Given the description of an element on the screen output the (x, y) to click on. 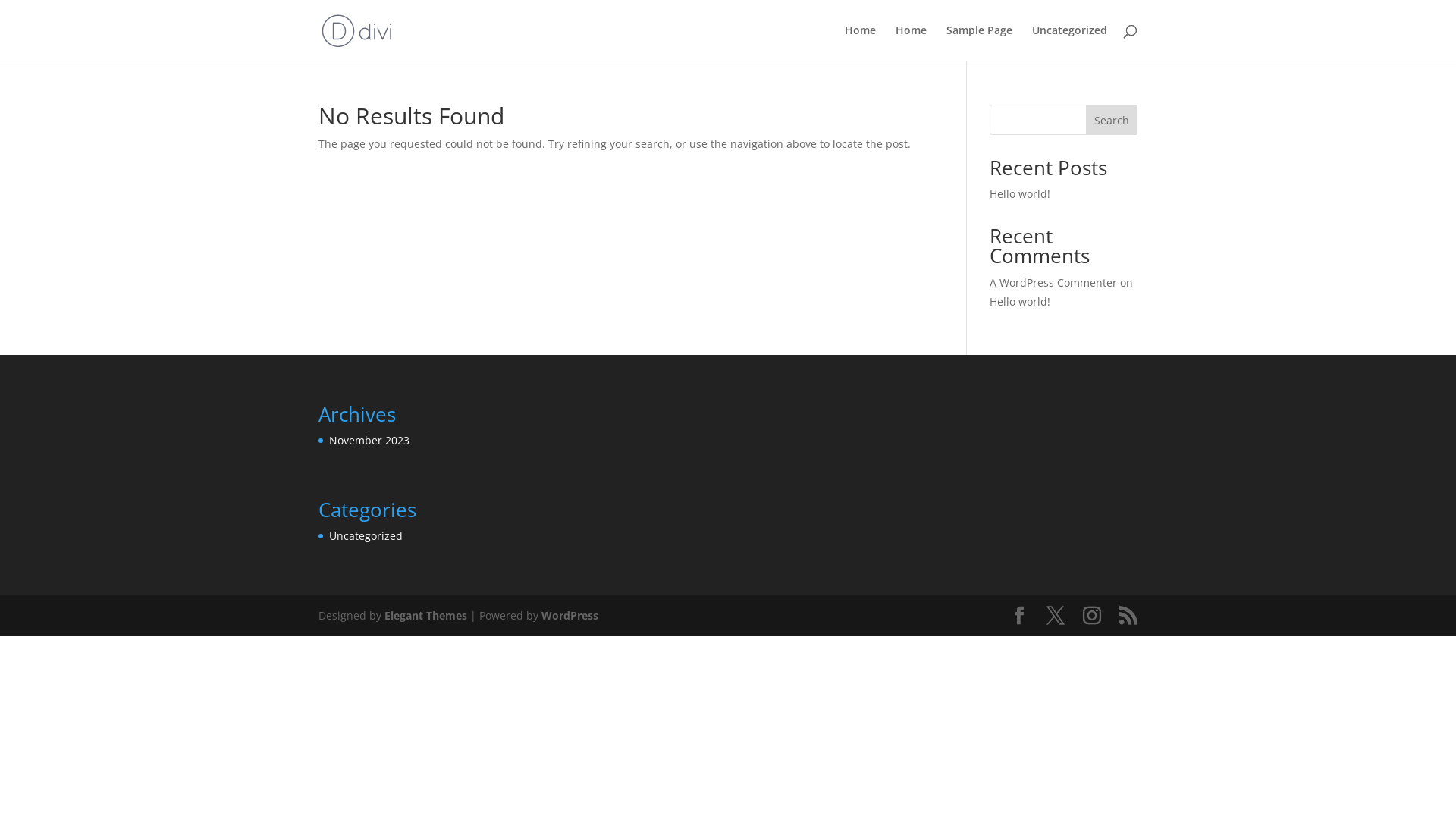
Elegant Themes Element type: text (425, 615)
Home Element type: text (859, 42)
Search Element type: text (1111, 119)
Sample Page Element type: text (979, 42)
Hello world! Element type: text (1019, 193)
WordPress Element type: text (569, 615)
November 2023 Element type: text (369, 440)
Uncategorized Element type: text (1069, 42)
A WordPress Commenter Element type: text (1053, 282)
Home Element type: text (910, 42)
Hello world! Element type: text (1019, 301)
Uncategorized Element type: text (365, 535)
